Given the description of an element on the screen output the (x, y) to click on. 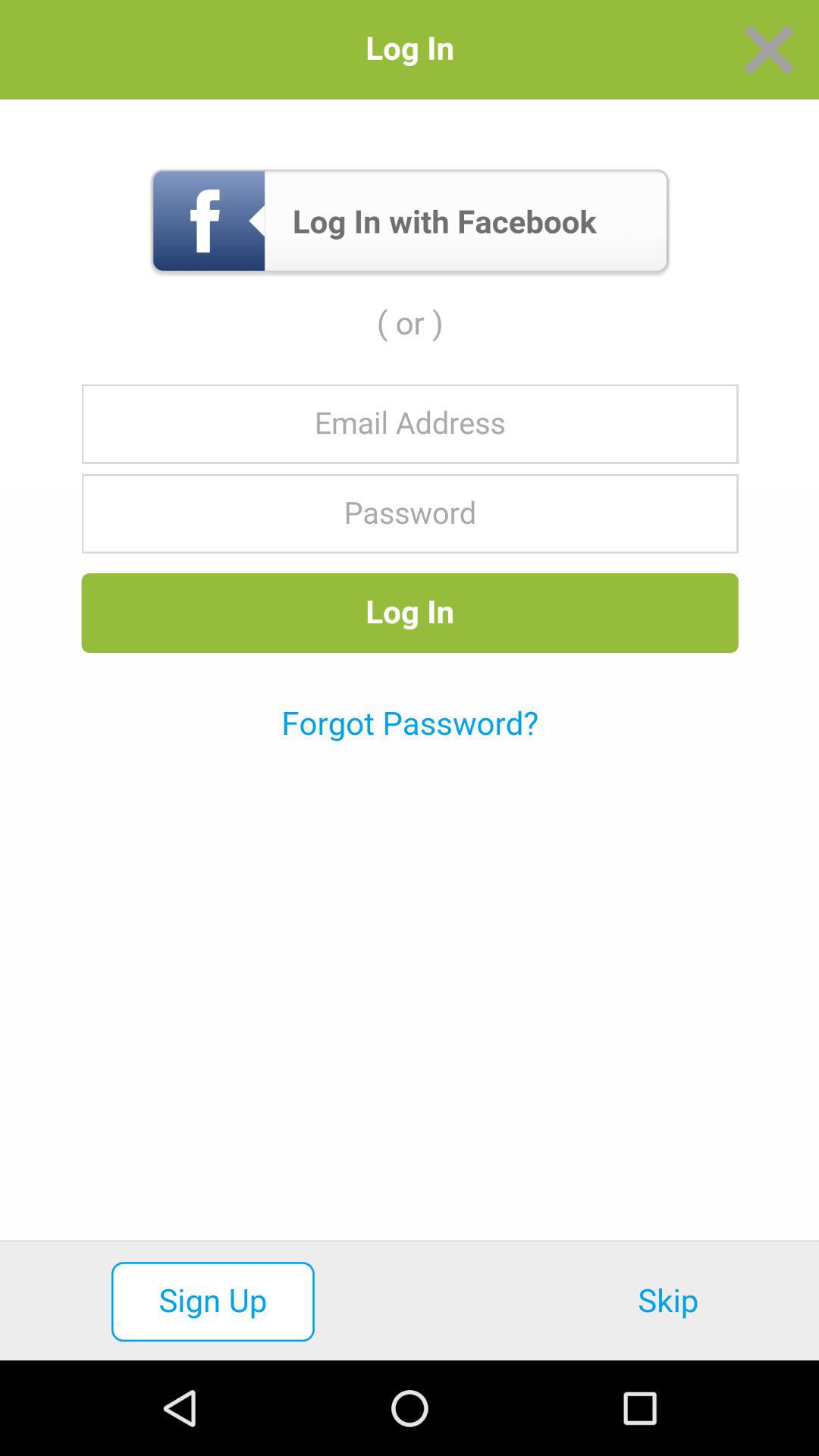
close tab (769, 49)
